Given the description of an element on the screen output the (x, y) to click on. 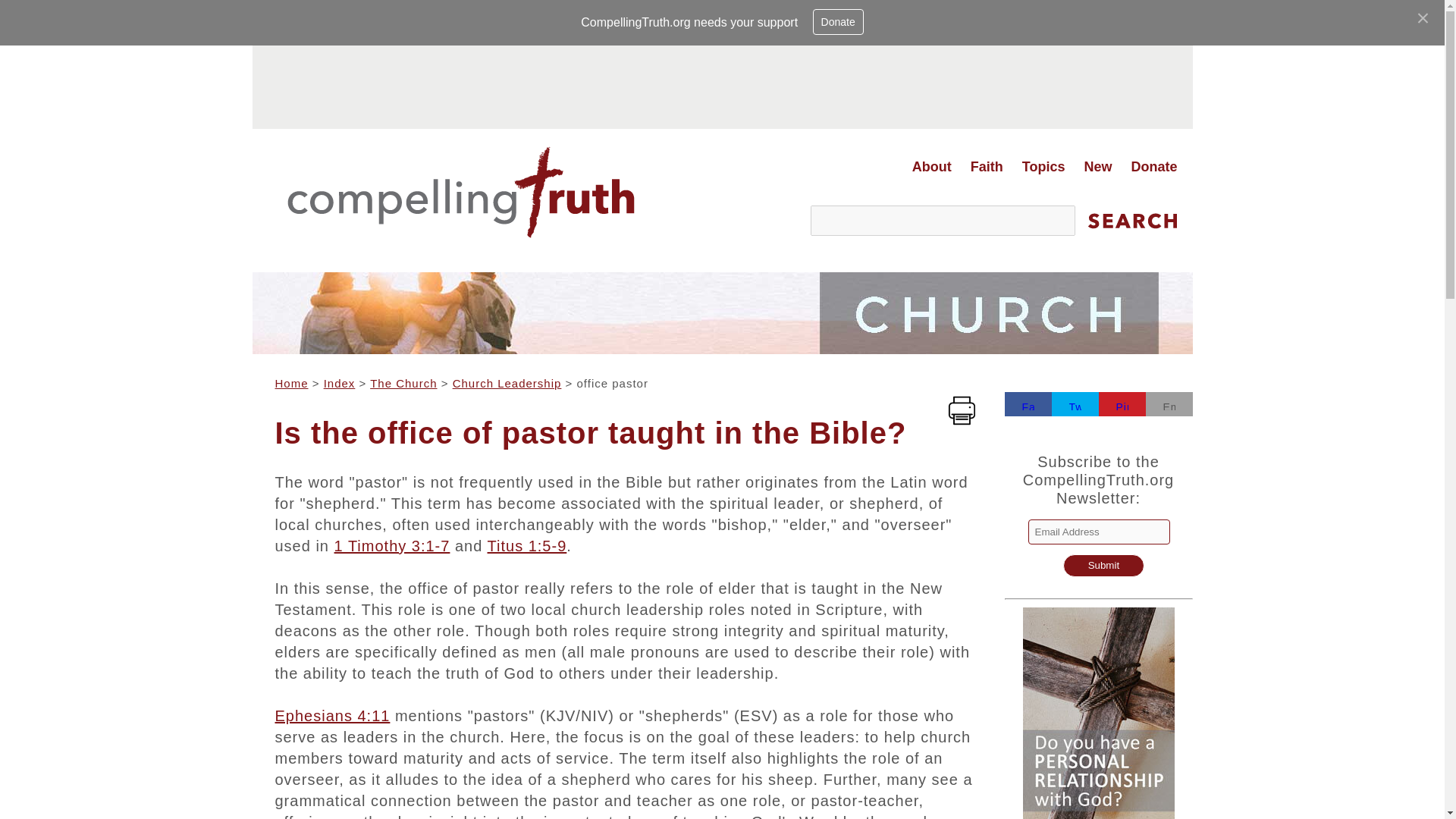
Titus 1:5-9 (527, 545)
Index (339, 382)
Ephesians 4:11 (332, 715)
Donate (1153, 166)
The Church (402, 382)
question of the week (1098, 548)
About (931, 166)
1 Timothy 3:1-7 (391, 545)
Donate (837, 22)
Faith (986, 166)
New (1097, 166)
Church Leadership (507, 382)
Topics (1043, 166)
Home (291, 382)
